Given the description of an element on the screen output the (x, y) to click on. 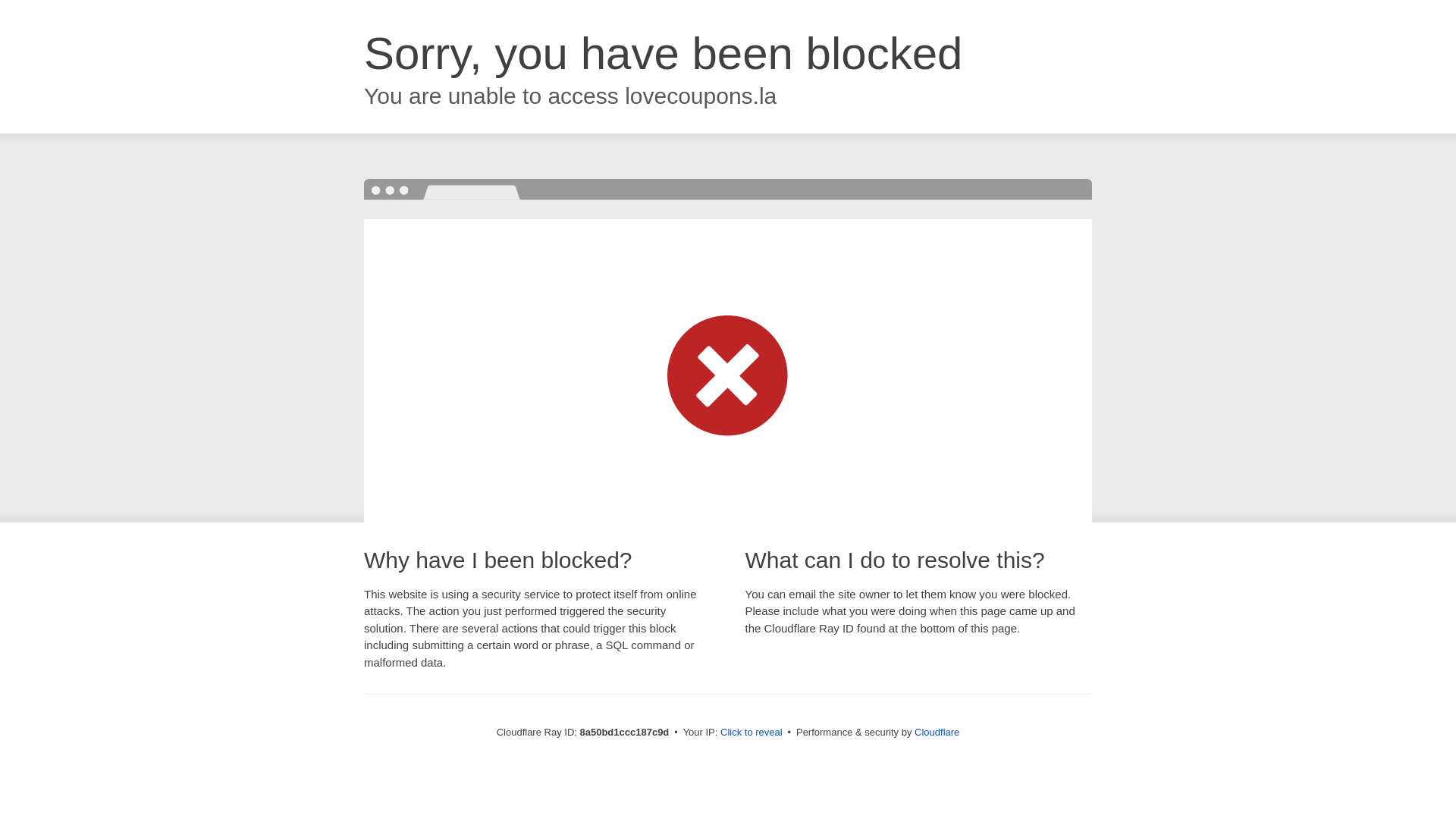
Cloudflare (936, 731)
Click to reveal (751, 732)
